Given the description of an element on the screen output the (x, y) to click on. 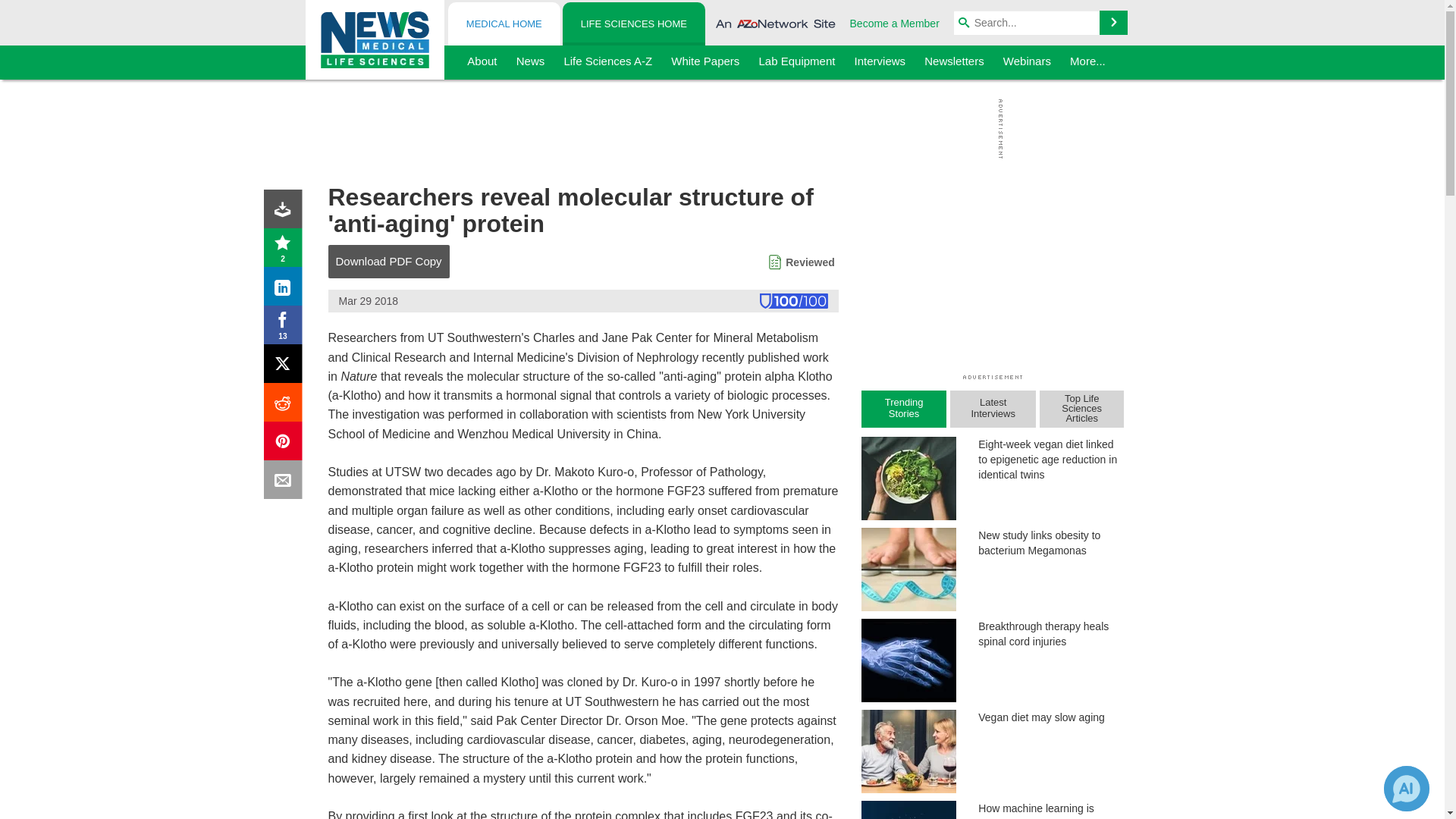
Rating (285, 250)
Search (1112, 22)
Email (285, 483)
Facebook (285, 328)
LinkedIn (285, 289)
Reddit (285, 405)
Download PDF copy (285, 212)
Become a Member (894, 22)
Pinterest (285, 443)
X (285, 366)
LIFE SCIENCES HOME (633, 23)
MEDICAL HOME (504, 23)
